Given the description of an element on the screen output the (x, y) to click on. 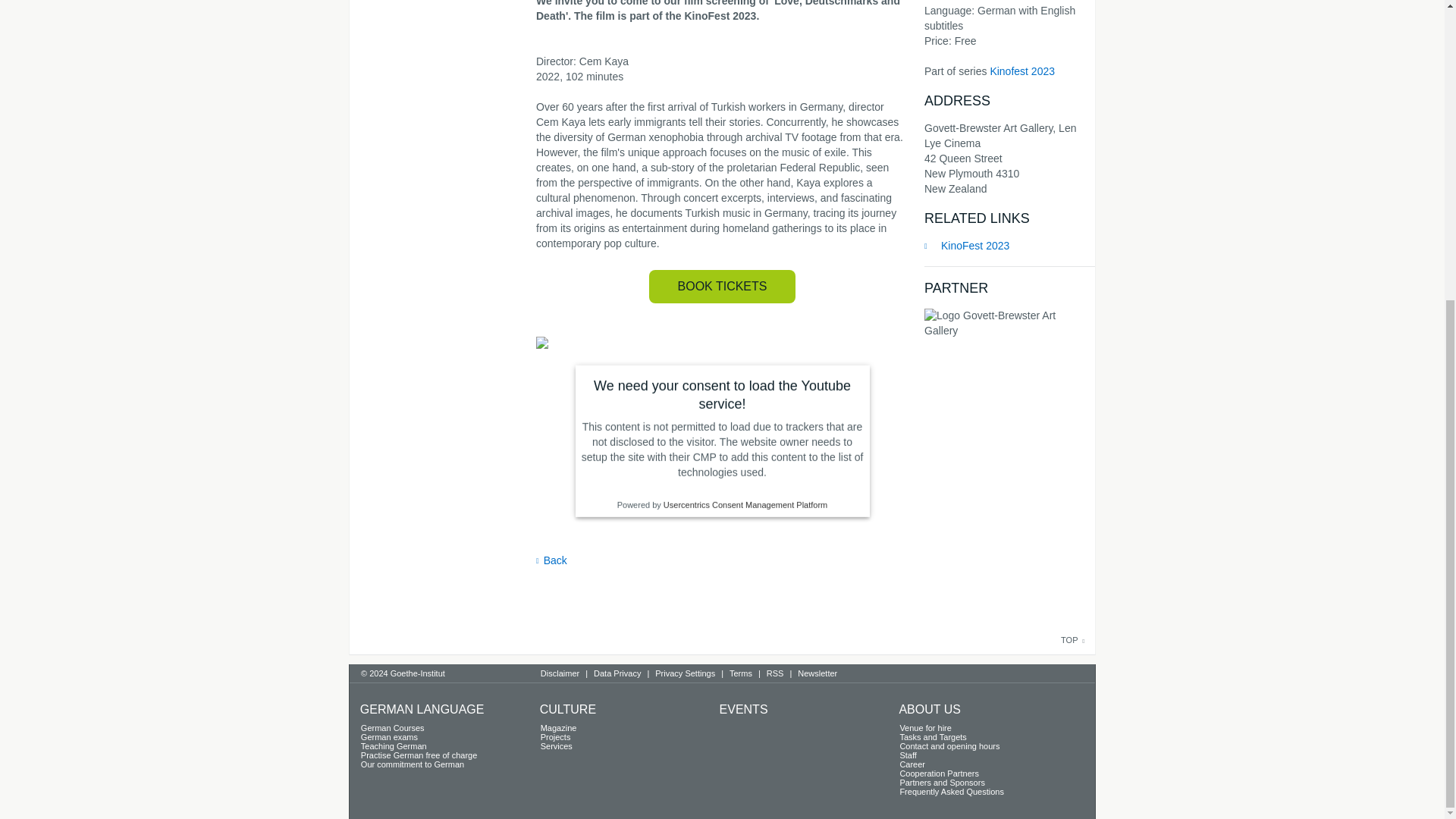
Disclaimer (559, 674)
GERMAN LANGUAGE (421, 708)
TOP (1072, 639)
Newsletter (817, 674)
Back (721, 560)
BOOK TICKETS (722, 286)
KinoFest 2023 (1002, 246)
Data Privacy (617, 674)
Privacy Settings (684, 674)
Usercentrics Consent Management Platform (745, 504)
